Given the description of an element on the screen output the (x, y) to click on. 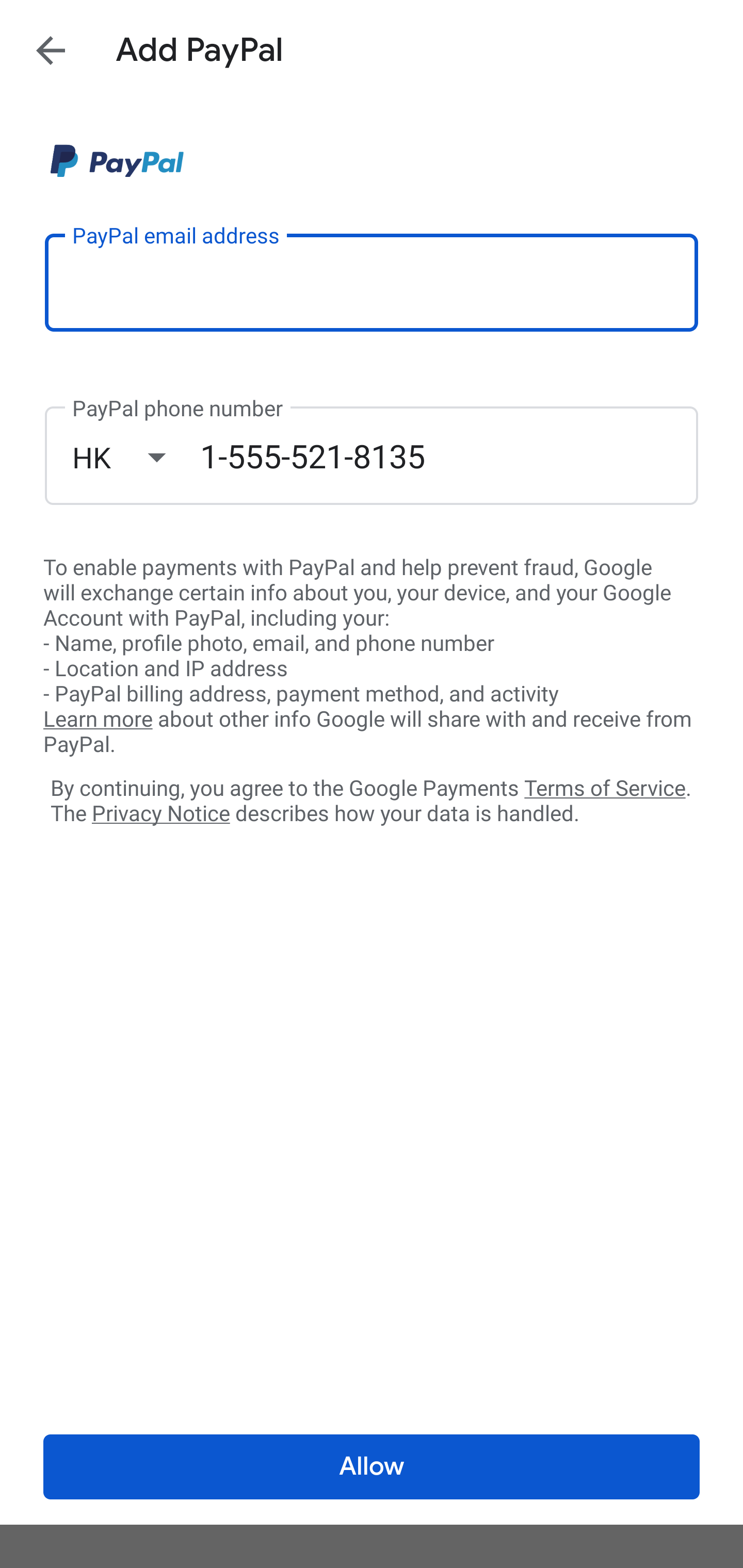
Navigate up (50, 50)
PayPal email address (371, 282)
HK (135, 456)
Learn more (97, 719)
Terms of Service (604, 787)
Privacy Notice (160, 814)
Allow (371, 1466)
